Given the description of an element on the screen output the (x, y) to click on. 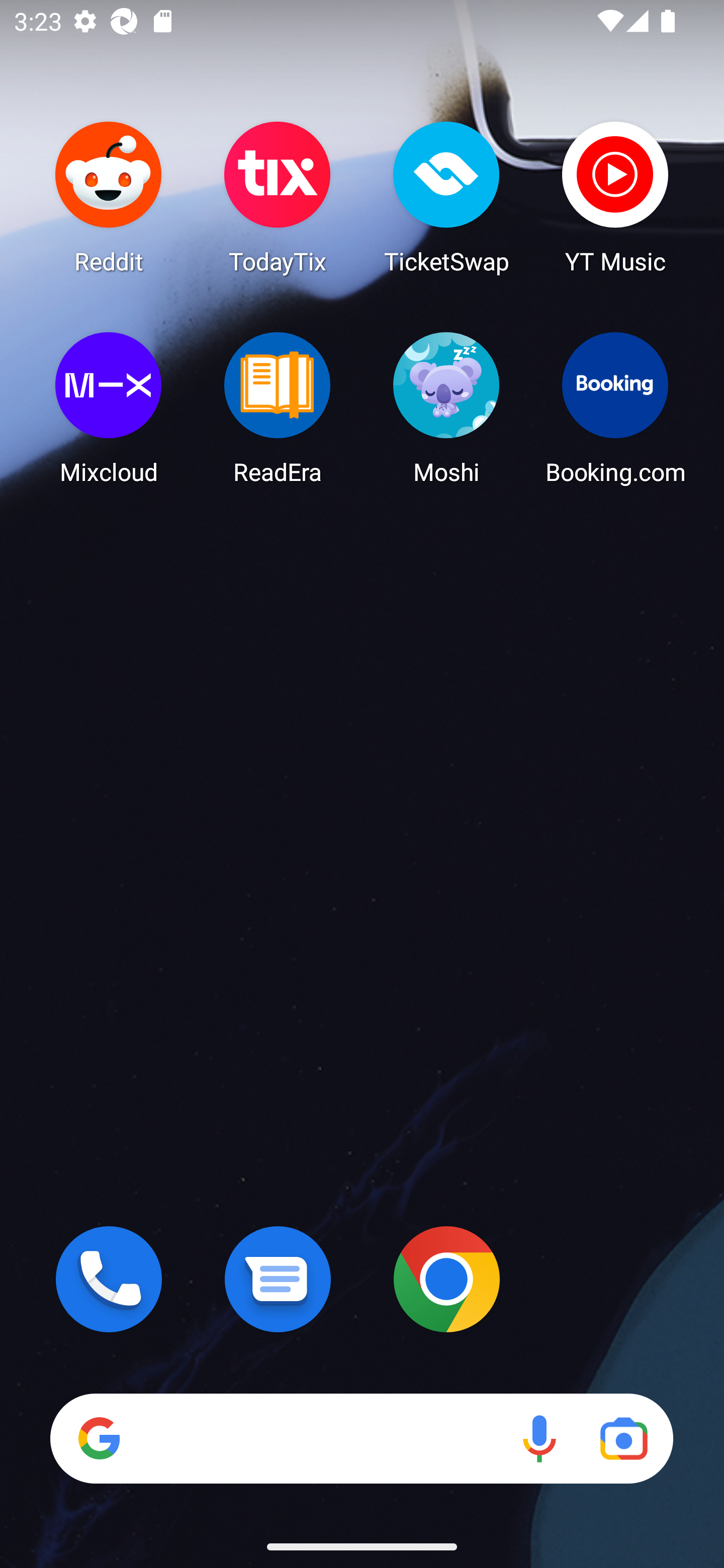
Reddit (108, 196)
TodayTix (277, 196)
TicketSwap (445, 196)
YT Music (615, 196)
Mixcloud (108, 407)
ReadEra (277, 407)
Moshi (445, 407)
Booking.com (615, 407)
Phone (108, 1279)
Messages (277, 1279)
Chrome (446, 1279)
Search Voice search Google Lens (361, 1438)
Voice search (539, 1438)
Google Lens (623, 1438)
